Given the description of an element on the screen output the (x, y) to click on. 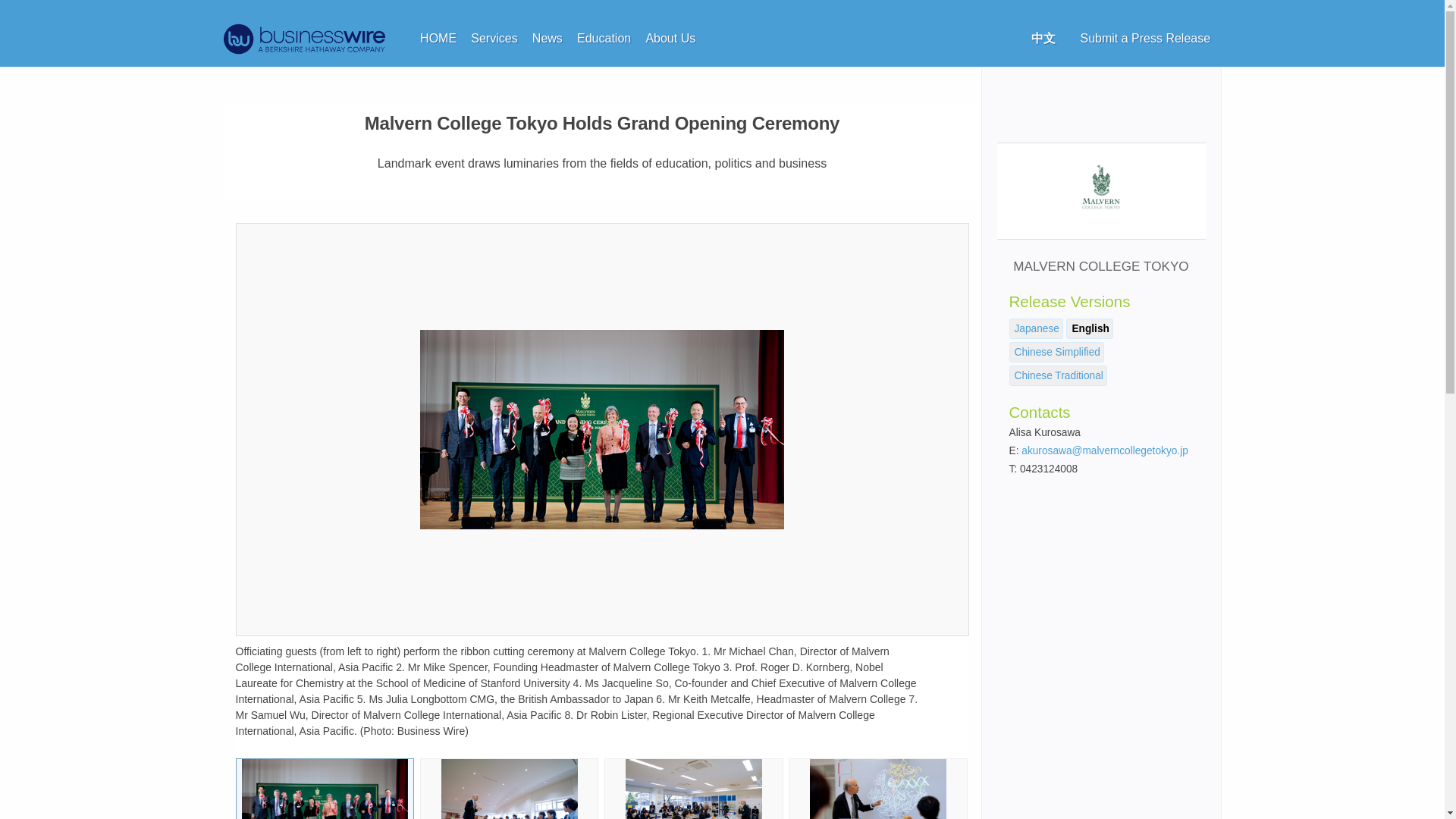
Japanese (1036, 328)
Chinese Traditional (1058, 375)
Chinese Simplified (1057, 351)
